Given the description of an element on the screen output the (x, y) to click on. 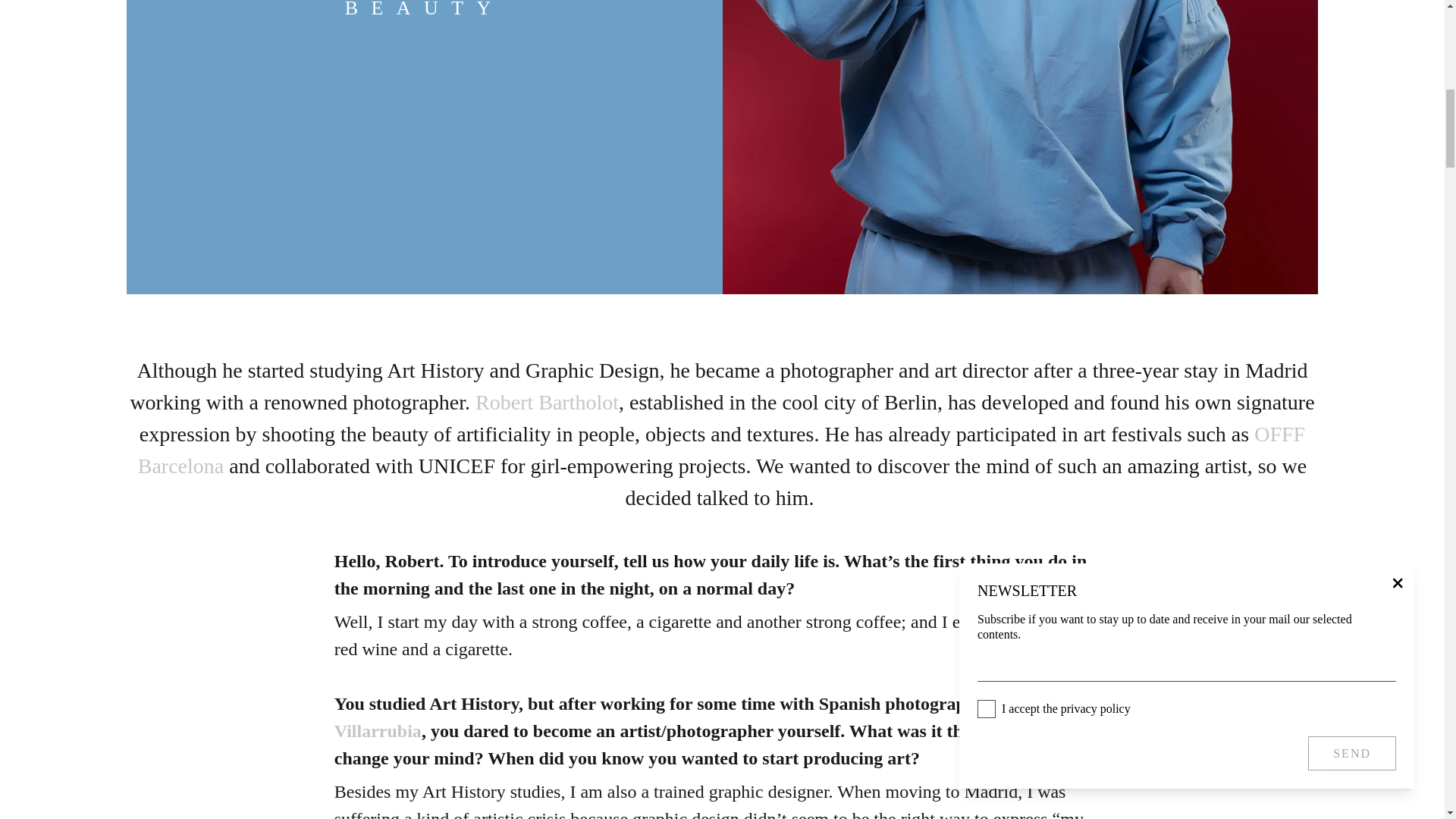
OFFF Barcelona (721, 449)
Robert Bartholot (547, 402)
